Given the description of an element on the screen output the (x, y) to click on. 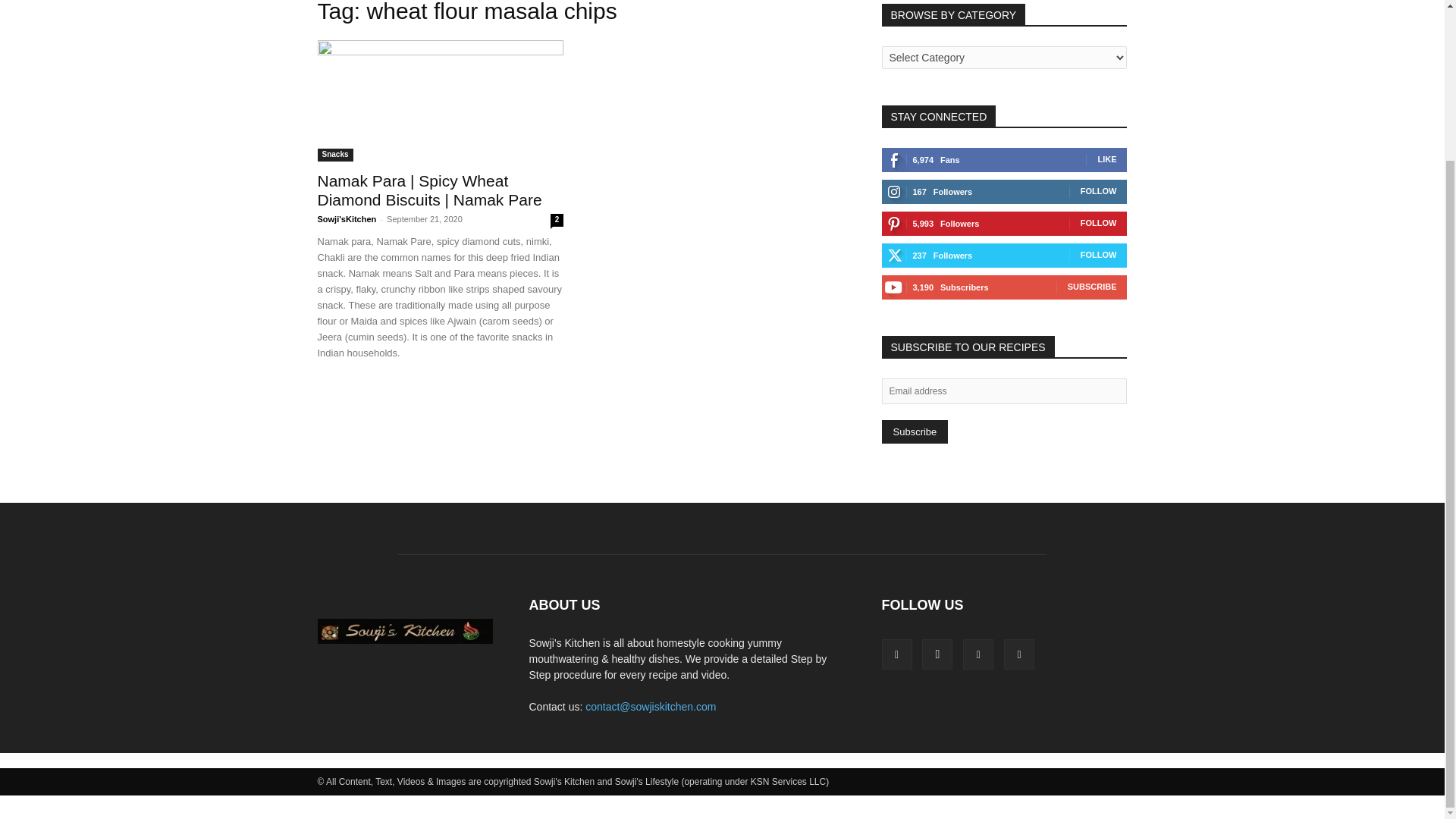
2 (556, 219)
Facebook (895, 654)
LIKE (1106, 158)
FOLLOW (1098, 222)
FOLLOW (1098, 254)
FOLLOW (1098, 190)
Instagram (936, 654)
Search (1085, 9)
Snacks (334, 154)
Subscribe (913, 431)
